Given the description of an element on the screen output the (x, y) to click on. 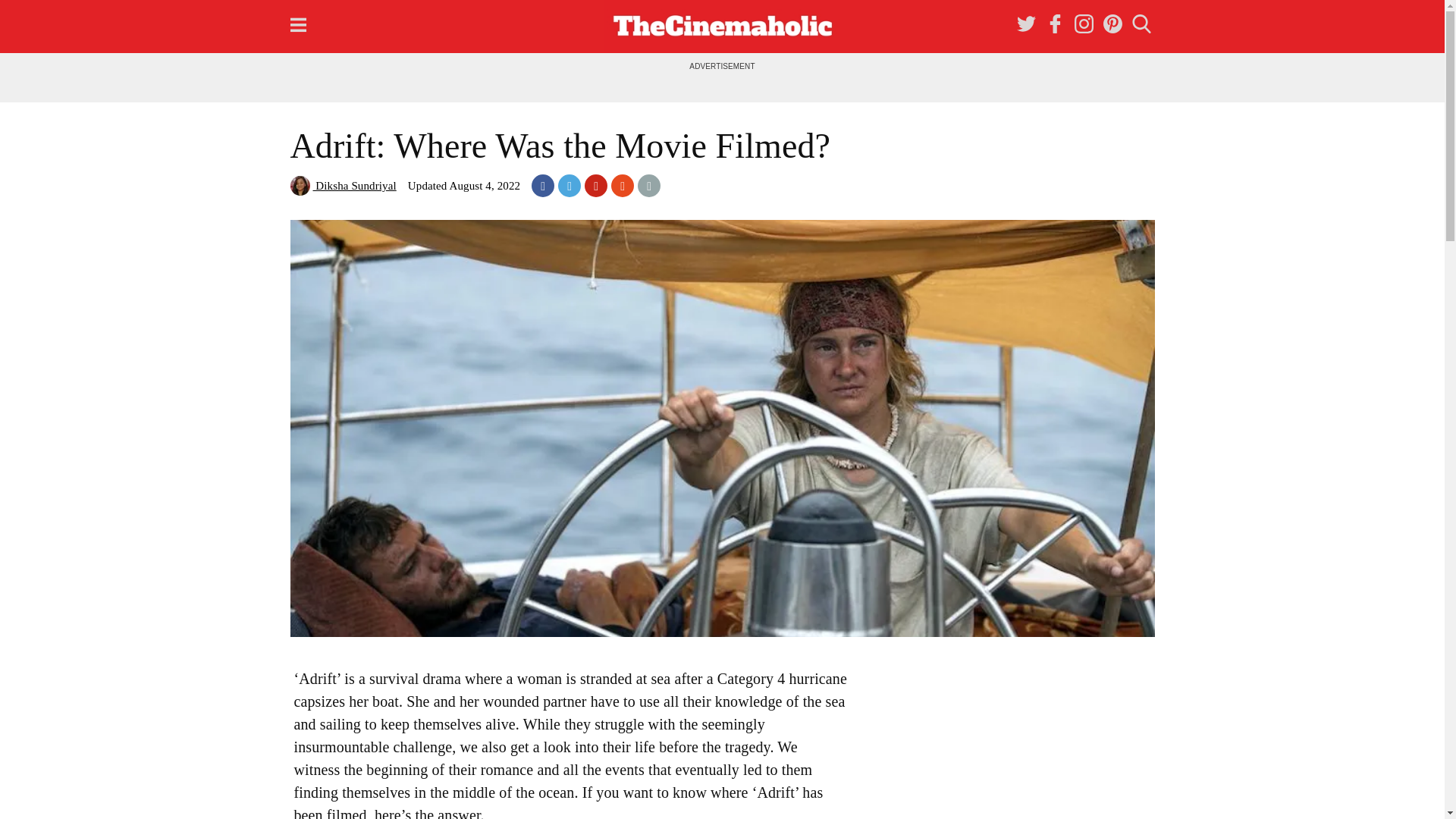
Diksha Sundriyal (342, 185)
